Given the description of an element on the screen output the (x, y) to click on. 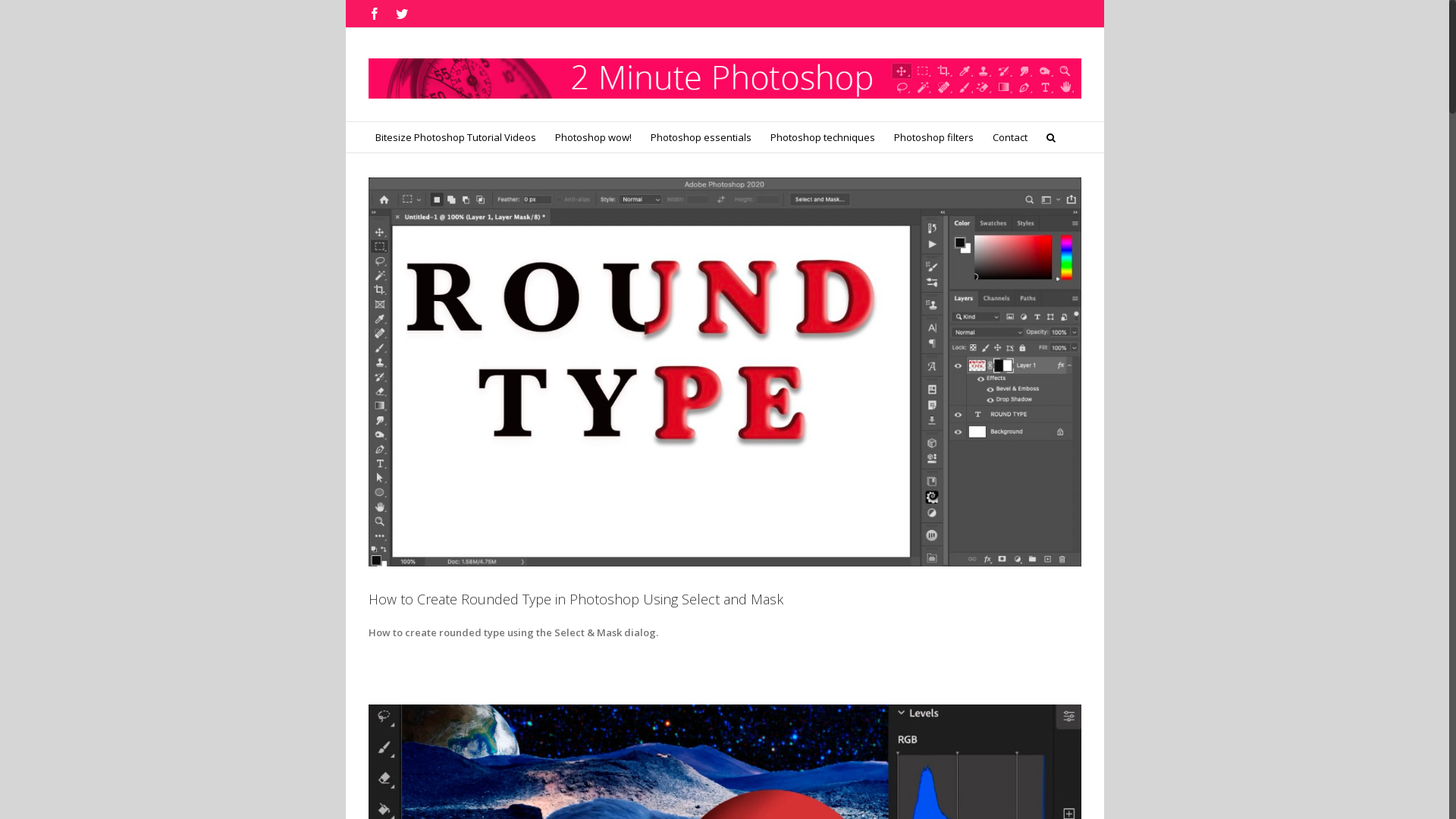
Search Element type: hover (1050, 137)
twitter Element type: text (401, 13)
Bitesize Photoshop Tutorial Videos Element type: text (454, 137)
Contact Element type: text (1008, 137)
Photoshop filters Element type: text (932, 137)
facebook Element type: text (374, 13)
Photoshop wow! Element type: text (593, 137)
Photoshop techniques Element type: text (822, 137)
Photoshop essentials Element type: text (700, 137)
